Given the description of an element on the screen output the (x, y) to click on. 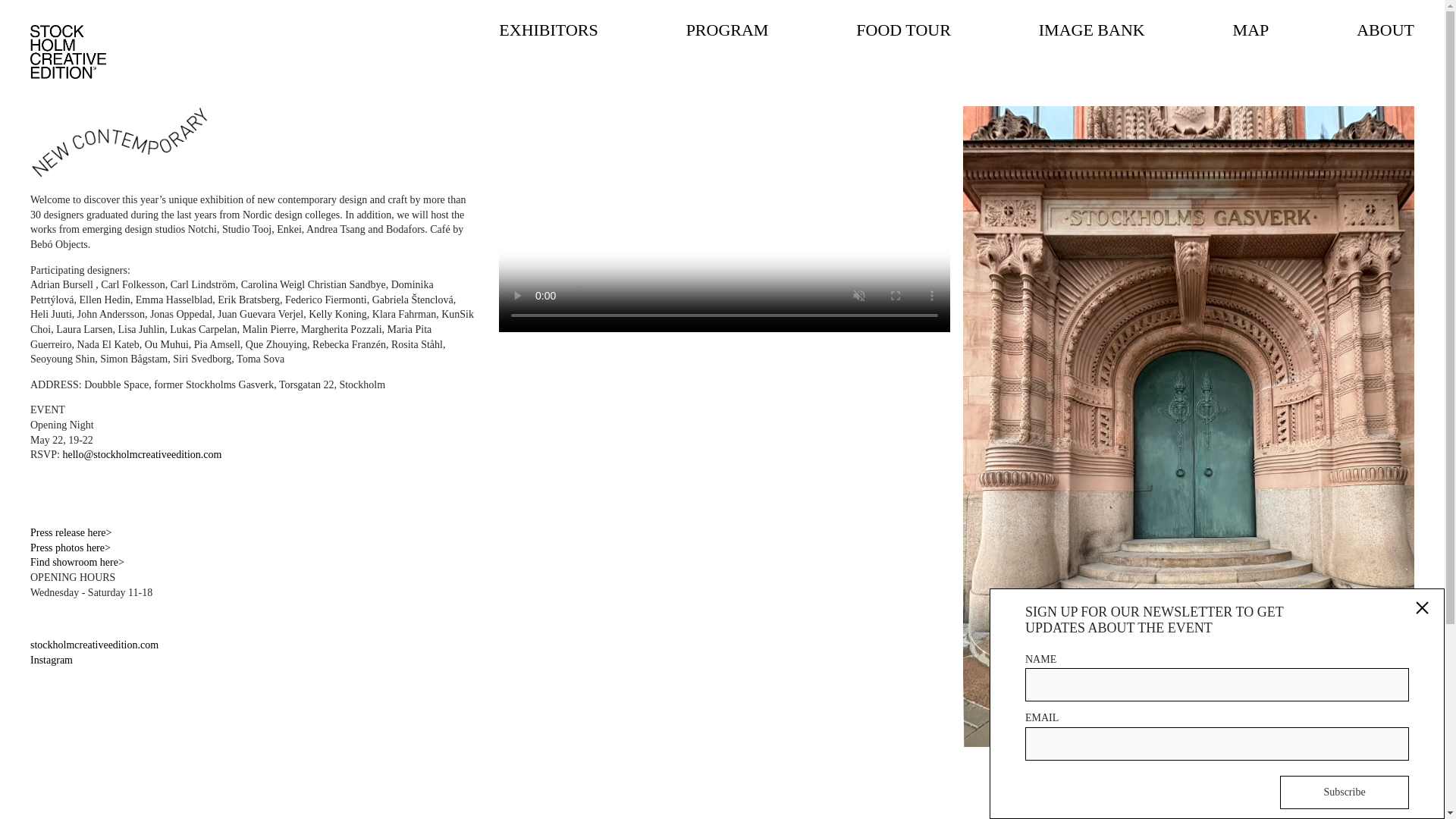
MAP (1251, 30)
Instagram (51, 659)
IMAGE BANK (1091, 30)
stockholmcreativeedition.com (94, 644)
PROGRAM (726, 30)
EXHIBITORS (547, 30)
Subscribe (1344, 792)
FOOD TOUR (903, 30)
Subscribe (1344, 792)
ABOUT (1384, 30)
